Given the description of an element on the screen output the (x, y) to click on. 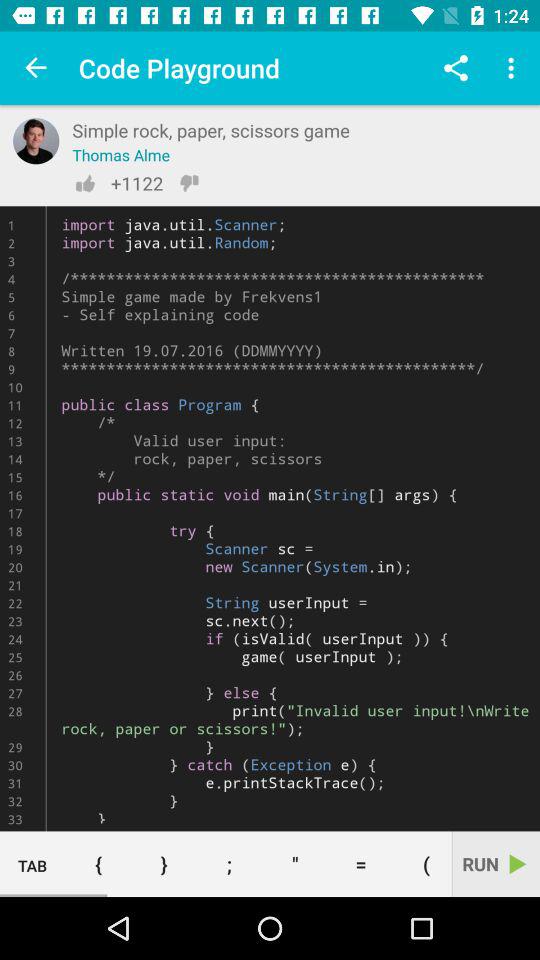
authors profile photo (36, 141)
